Given the description of an element on the screen output the (x, y) to click on. 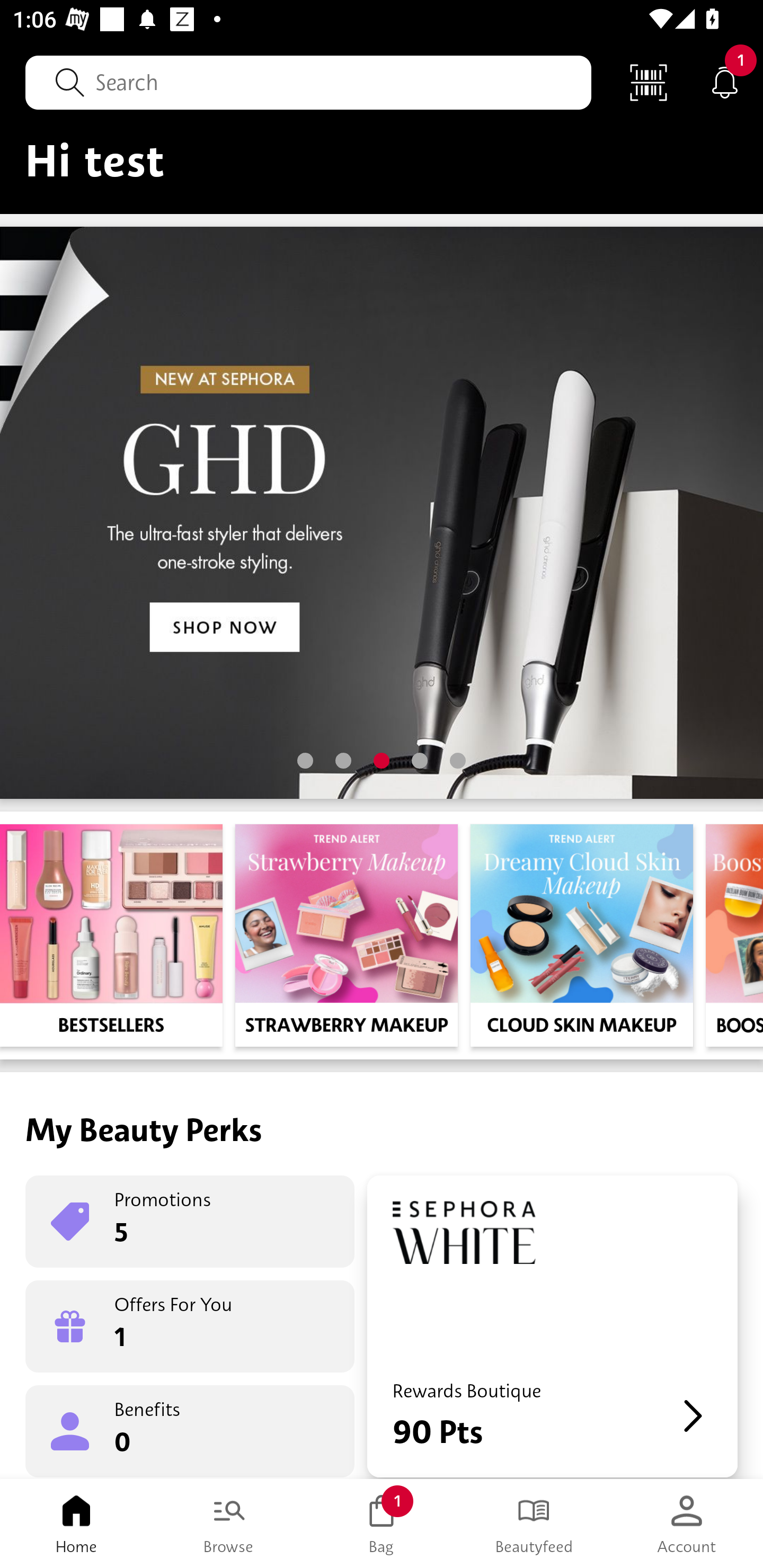
Scan Code (648, 81)
Notifications (724, 81)
Search (308, 81)
Promotions 5 (189, 1221)
Rewards Boutique 90 Pts (552, 1326)
Offers For You 1 (189, 1326)
Benefits 0 (189, 1430)
Browse (228, 1523)
Bag 1 Bag (381, 1523)
Beautyfeed (533, 1523)
Account (686, 1523)
